Given the description of an element on the screen output the (x, y) to click on. 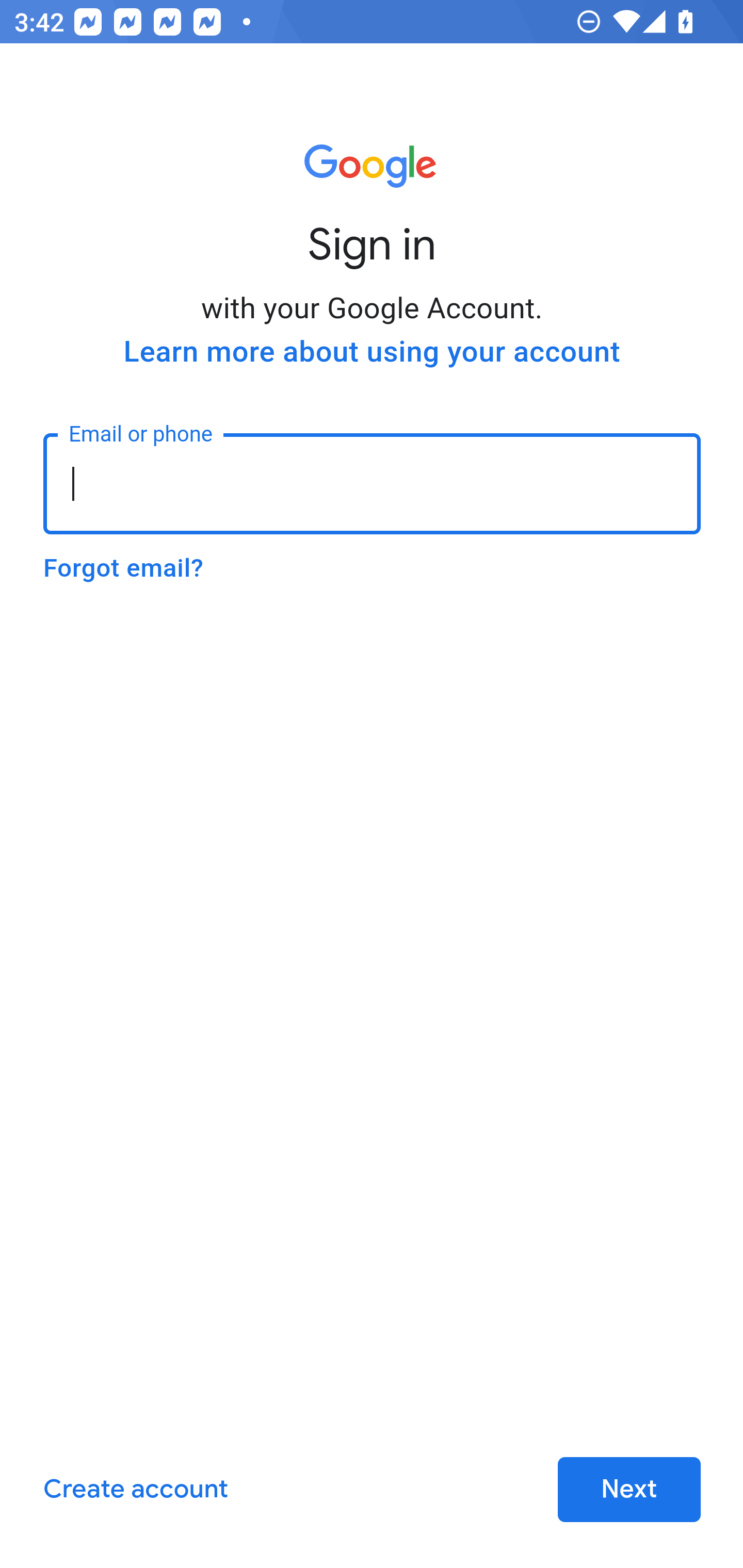
Learn more about using your account (371, 351)
Forgot email? (123, 568)
Create account (134, 1490)
Next (629, 1490)
